Given the description of an element on the screen output the (x, y) to click on. 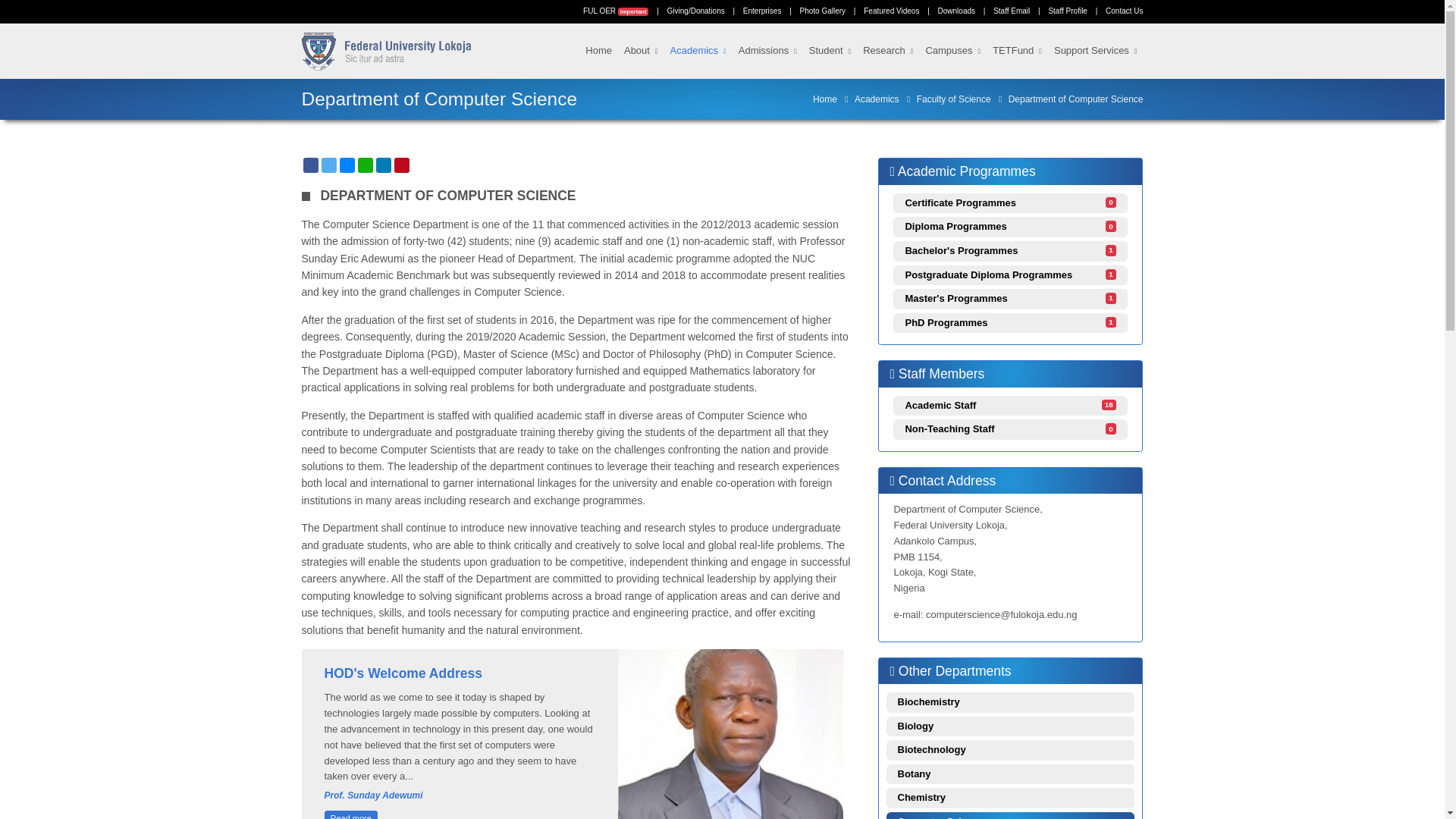
Staff Email (1010, 10)
Contact Us (1123, 10)
Enterprises (761, 10)
Staff Profile (1067, 10)
Photo Gallery (822, 10)
Academics (697, 50)
Featured Videos (890, 10)
About (641, 50)
Admissions (767, 50)
Downloads (956, 10)
FUL OER important (615, 10)
Home (598, 50)
